Given the description of an element on the screen output the (x, y) to click on. 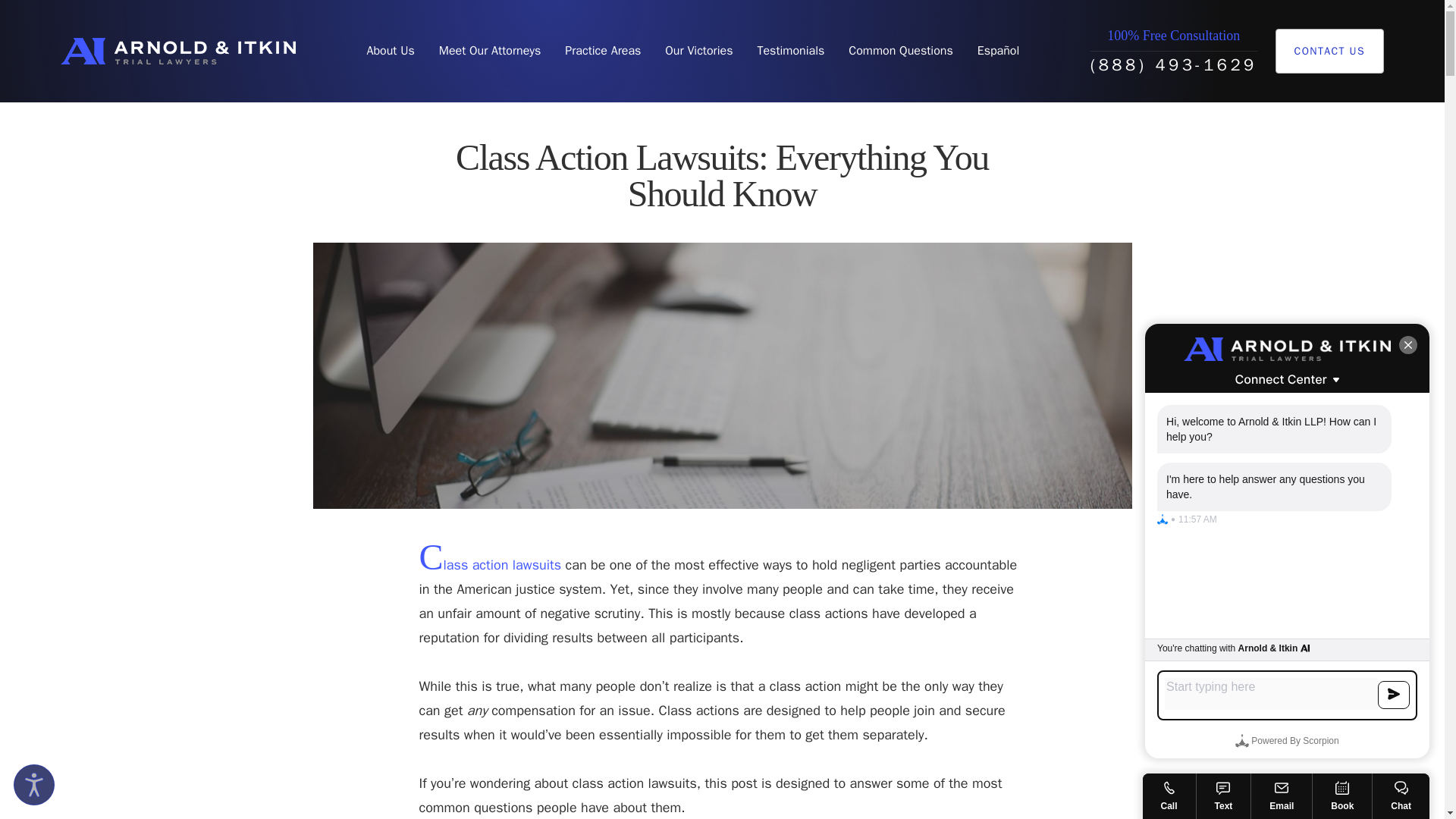
About Us (389, 51)
Meet Our Attorneys (490, 51)
Home (178, 50)
